Given the description of an element on the screen output the (x, y) to click on. 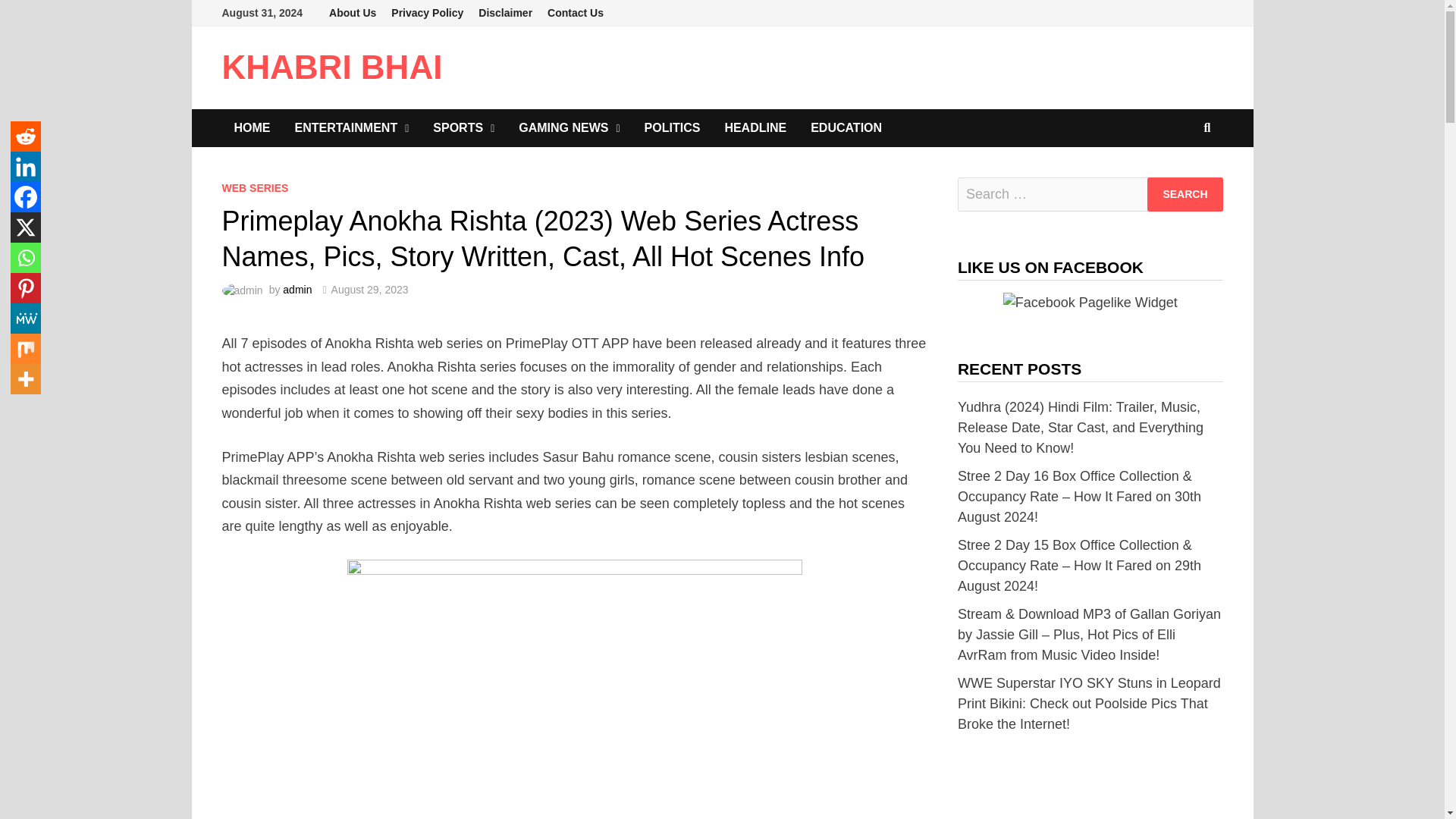
Search (1185, 194)
EDUCATION (845, 127)
KHABRI BHAI (331, 66)
Contact Us (575, 13)
Disclaimer (505, 13)
About Us (352, 13)
ENTERTAINMENT (351, 127)
SPORTS (463, 127)
HOME (251, 127)
POLITICS (672, 127)
